Given the description of an element on the screen output the (x, y) to click on. 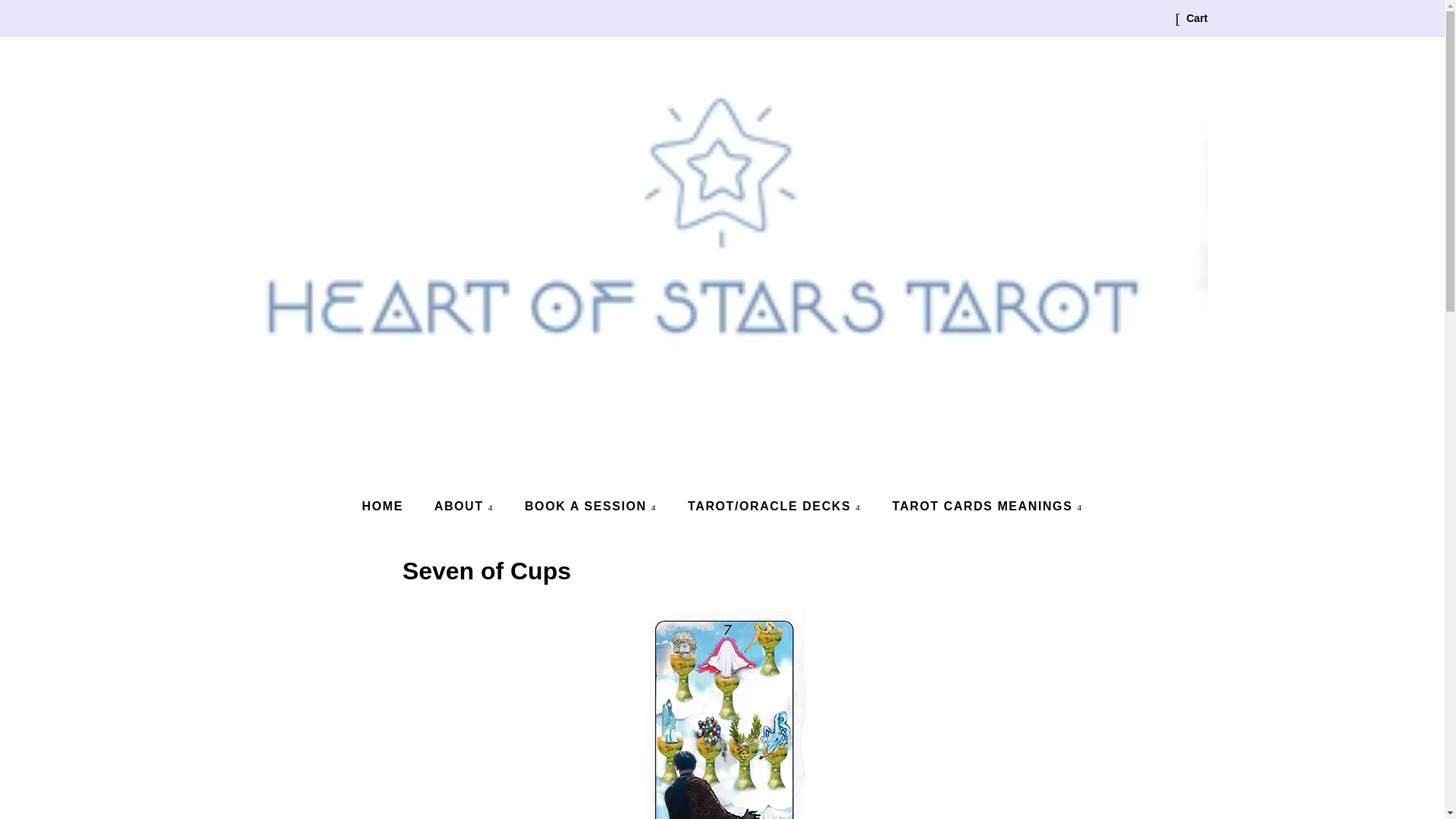
BOOK A SESSION (592, 505)
TAROT CARDS MEANINGS (981, 505)
HOME (389, 505)
ABOUT (465, 505)
Cart (1196, 18)
